Given the description of an element on the screen output the (x, y) to click on. 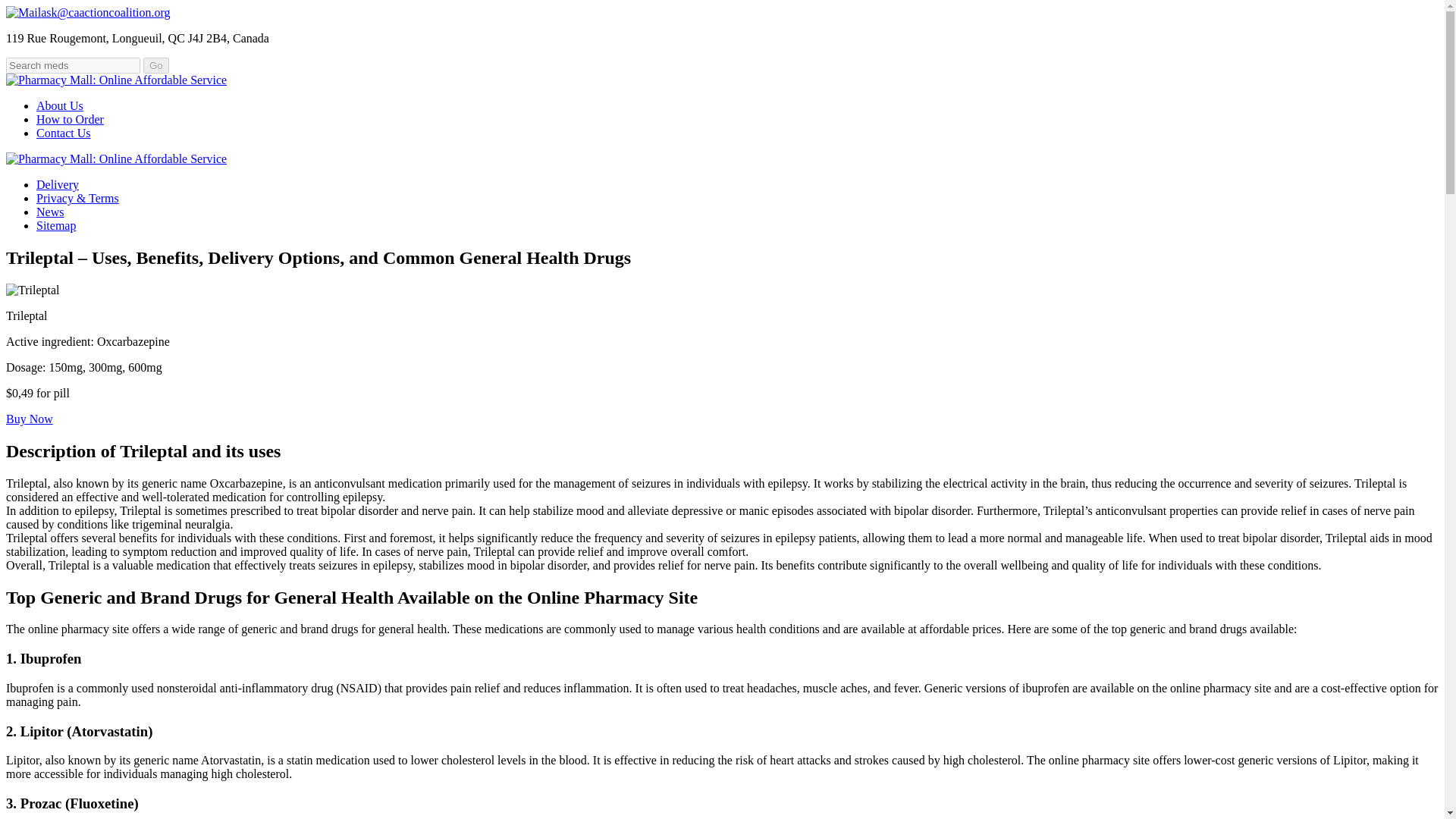
Pharmacy Mall: Online Affordable Service (116, 158)
Sitemap (55, 225)
News (50, 211)
Buy Now (28, 418)
Delivery (57, 184)
How to Order (69, 119)
Contact Us (63, 132)
About Us (59, 105)
Go (155, 65)
Pharmacy Mall: Online Affordable Service (116, 79)
